Given the description of an element on the screen output the (x, y) to click on. 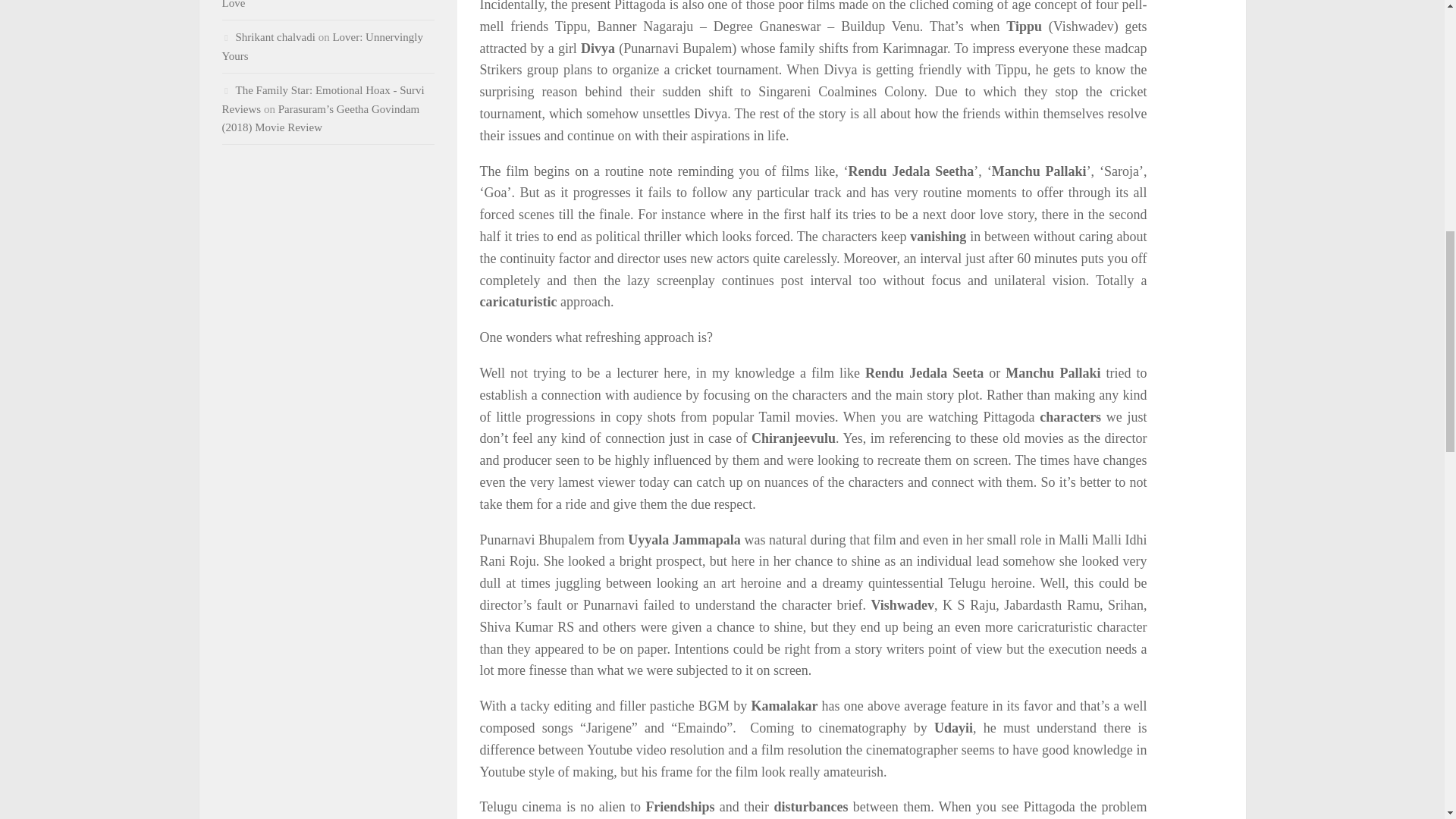
Lover: Unnervingly Yours (321, 46)
Manjummel Boys: In-Humanly Love (317, 4)
The Family Star: Emotional Hoax - Survi Reviews (322, 99)
Shrikant chalvadi (274, 37)
